Given the description of an element on the screen output the (x, y) to click on. 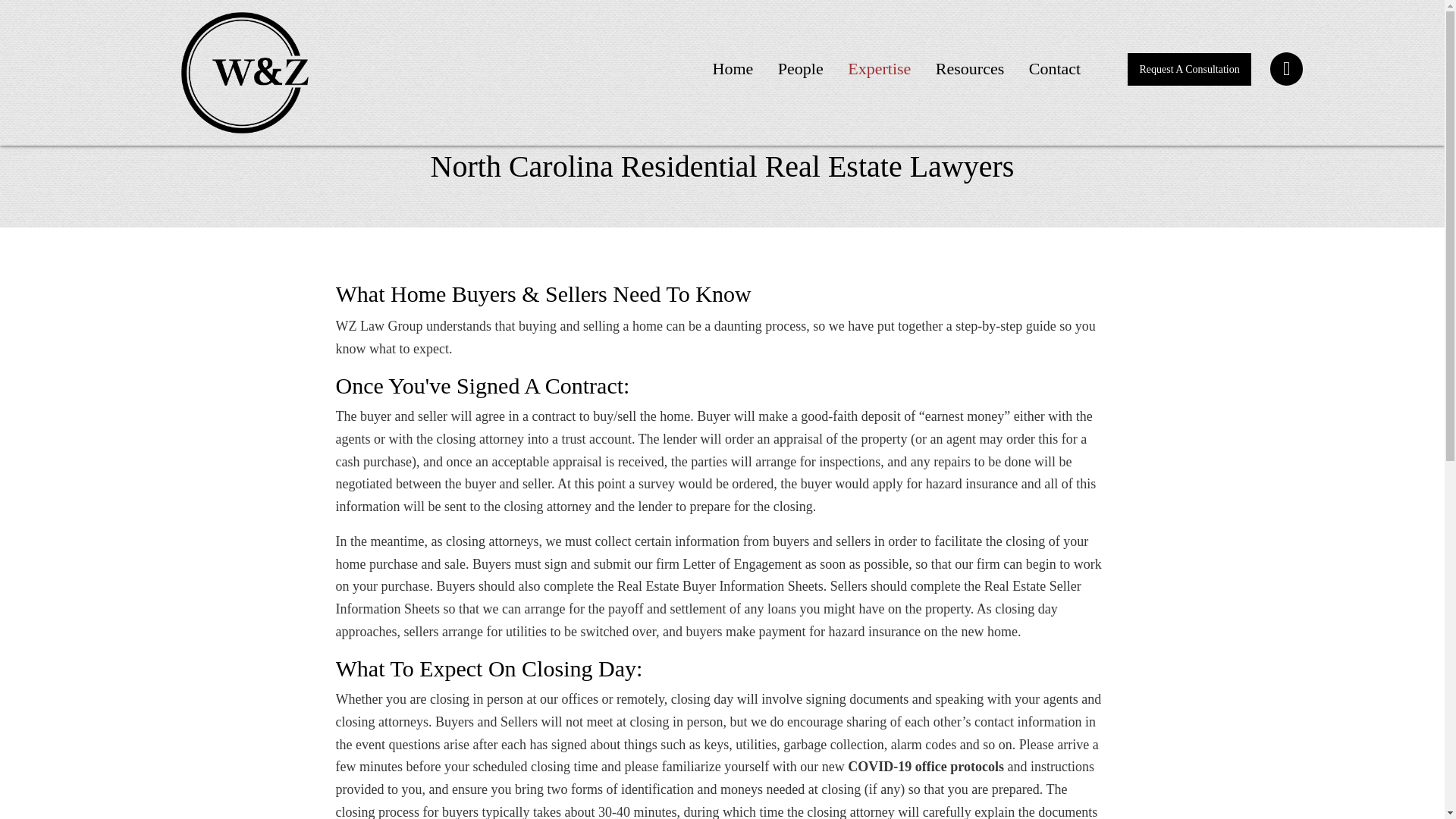
Request A Consultation (1188, 69)
Home (732, 68)
Resources (969, 68)
People (800, 68)
Contact (1053, 68)
wz-logo-bw (244, 72)
Expertise (879, 68)
